Given the description of an element on the screen output the (x, y) to click on. 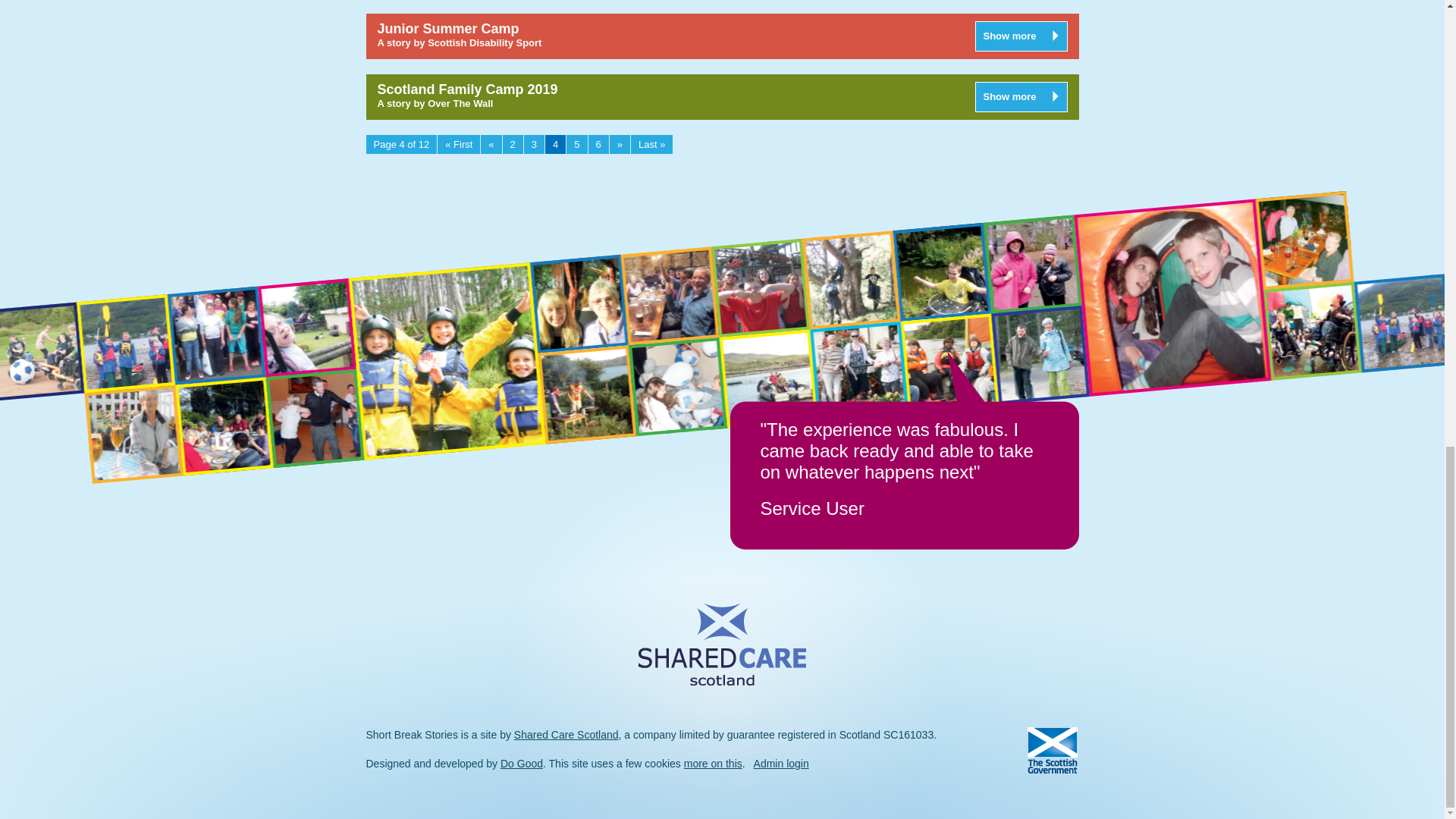
Page 3 (534, 144)
Do Good Advertising (521, 763)
Page 5 (576, 144)
Cookie Statement (713, 763)
Page 6 (598, 144)
Page 2 (512, 144)
